Given the description of an element on the screen output the (x, y) to click on. 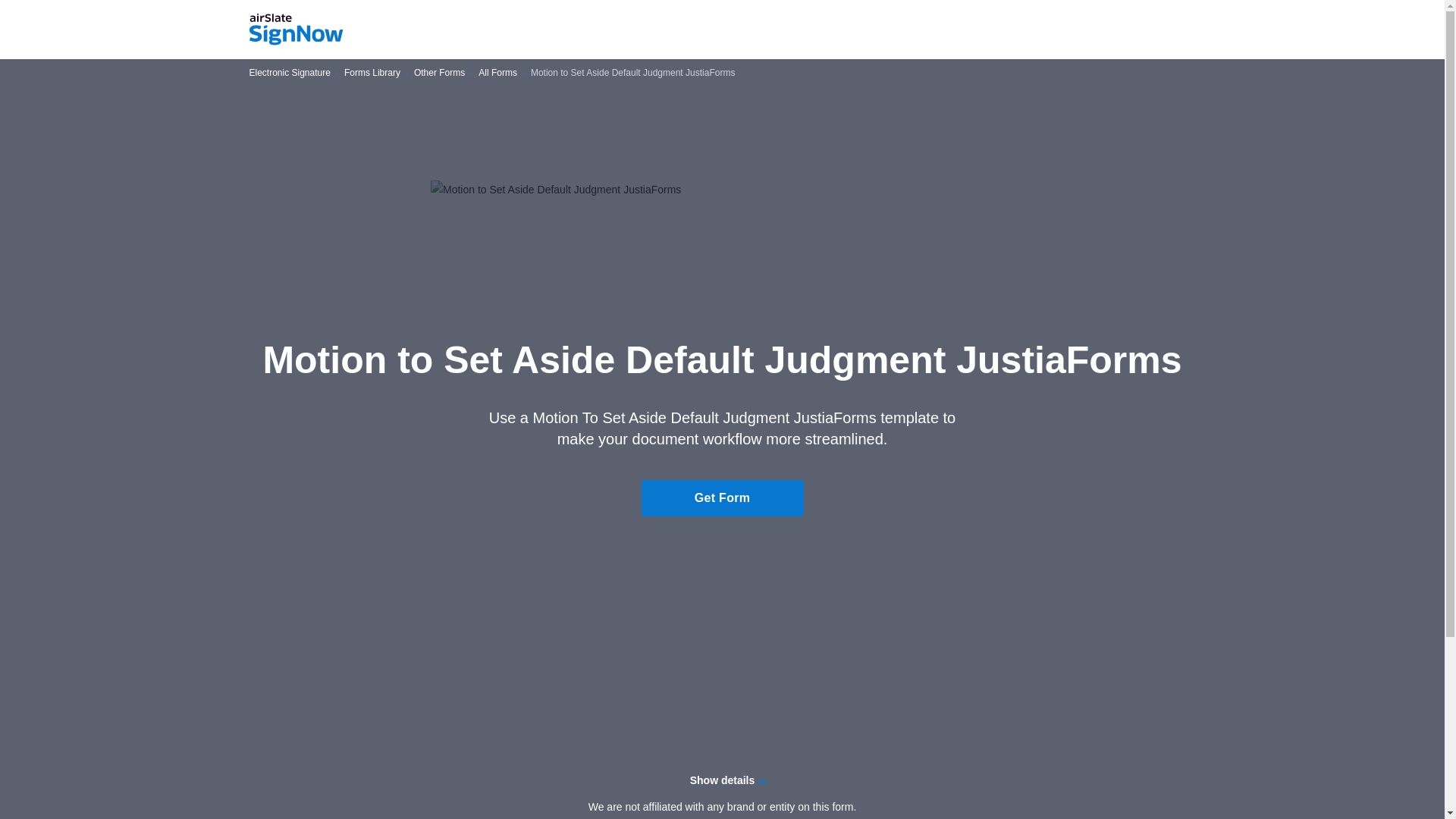
Show details (722, 780)
Forms Library (371, 73)
Electronic Signature (289, 73)
All Forms (497, 73)
Other Forms (438, 73)
Get Form (722, 497)
signNow (295, 29)
